Given the description of an element on the screen output the (x, y) to click on. 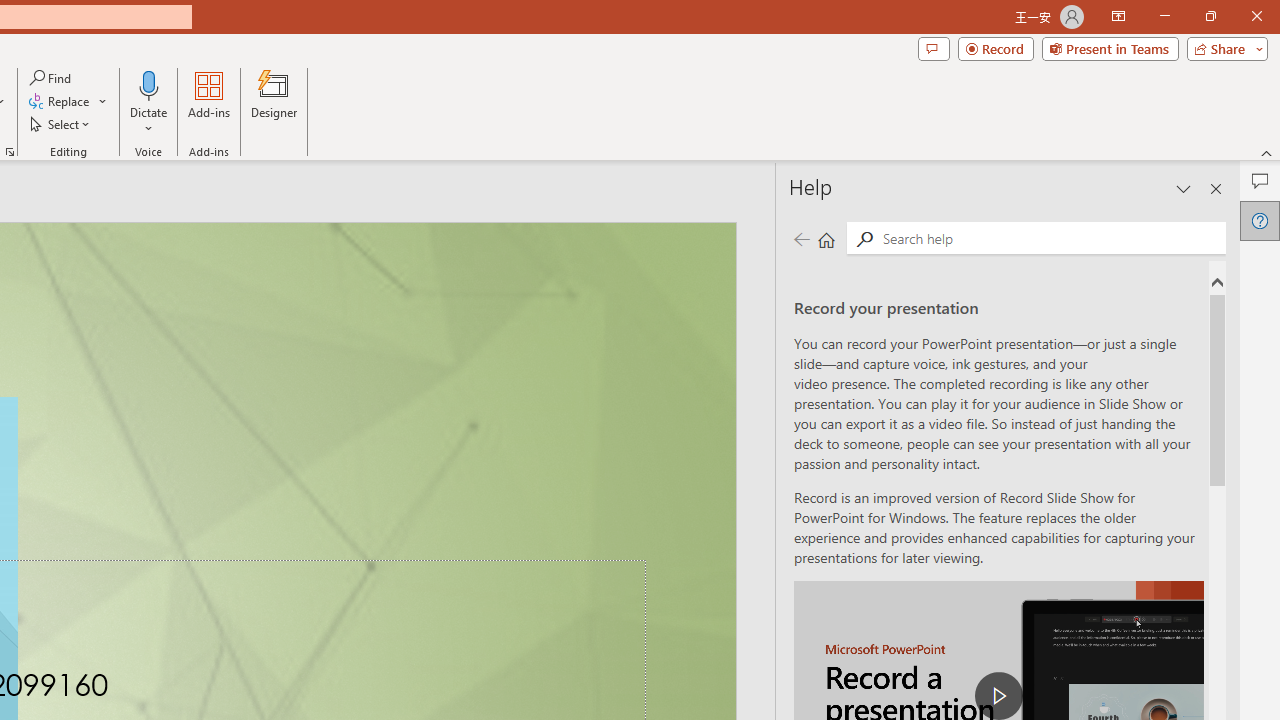
Search (1049, 237)
Designer (274, 102)
Replace... (60, 101)
play Record a Presentation (998, 695)
Dictate (149, 84)
